Given the description of an element on the screen output the (x, y) to click on. 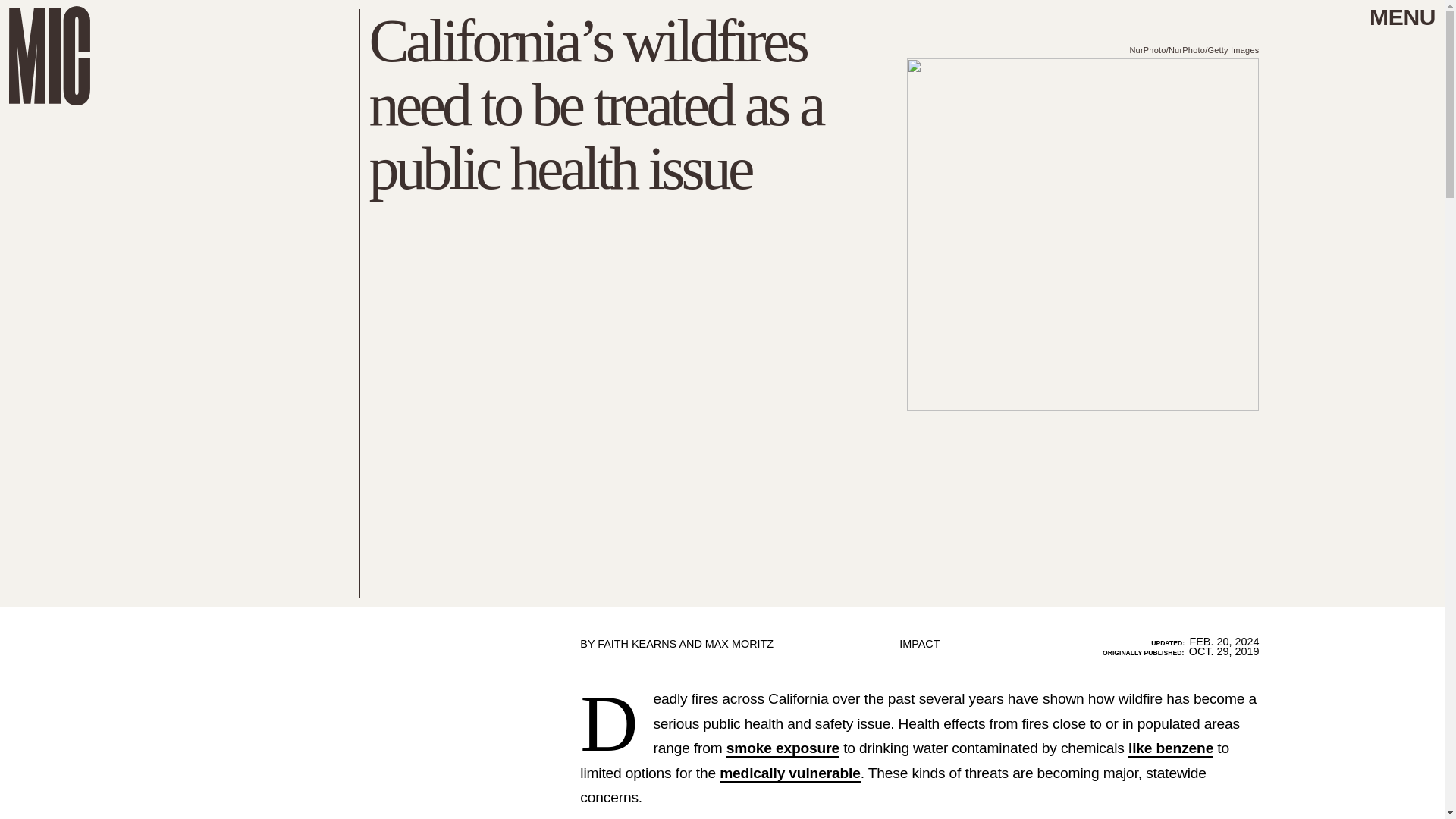
like benzene (1170, 748)
medically vulnerable (789, 773)
smoke exposure (783, 748)
FAITH KEARNS (636, 644)
